Given the description of an element on the screen output the (x, y) to click on. 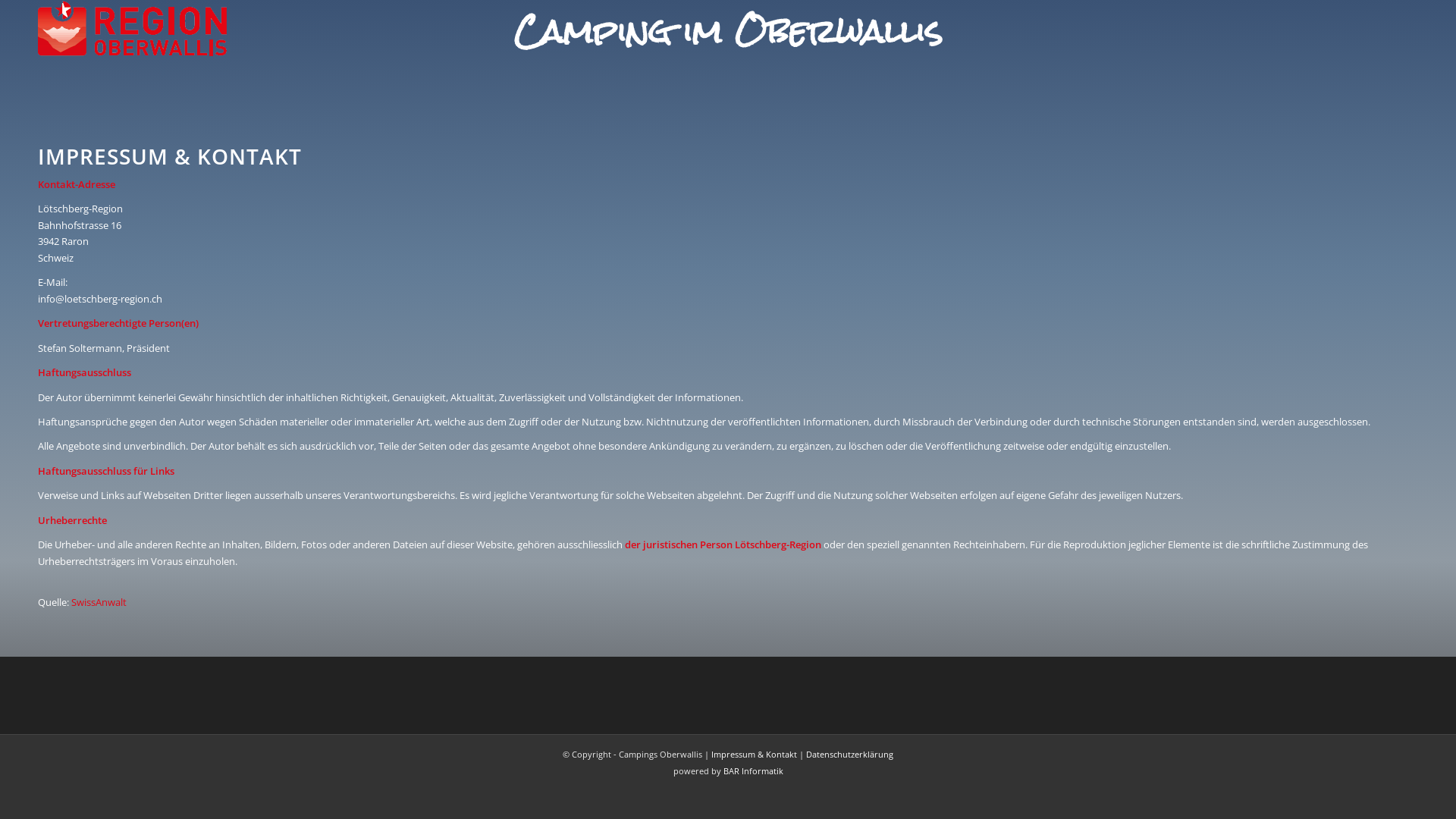
logo-transparent Element type: hover (131, 28)
BAR Informatik Element type: text (753, 770)
Impressum & Kontakt Element type: text (754, 753)
SwissAnwalt Element type: text (98, 601)
